Given the description of an element on the screen output the (x, y) to click on. 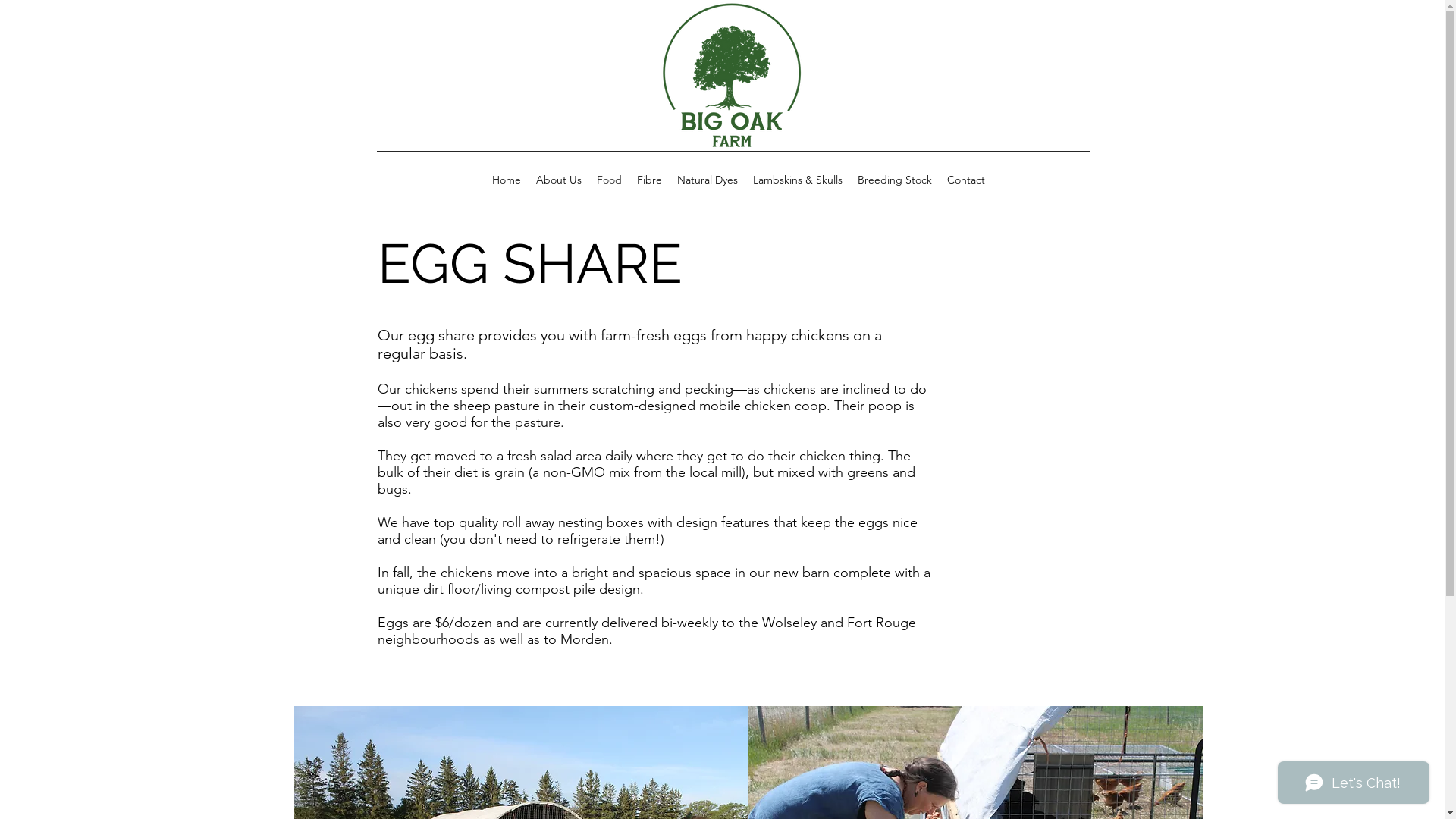
Breeding Stock Element type: text (893, 179)
About Us Element type: text (557, 179)
Contact Element type: text (964, 179)
Home Element type: text (505, 179)
Natural Dyes Element type: text (706, 179)
Lambskins & Skulls Element type: text (796, 179)
Food Element type: text (608, 179)
Fibre Element type: text (649, 179)
